Given the description of an element on the screen output the (x, y) to click on. 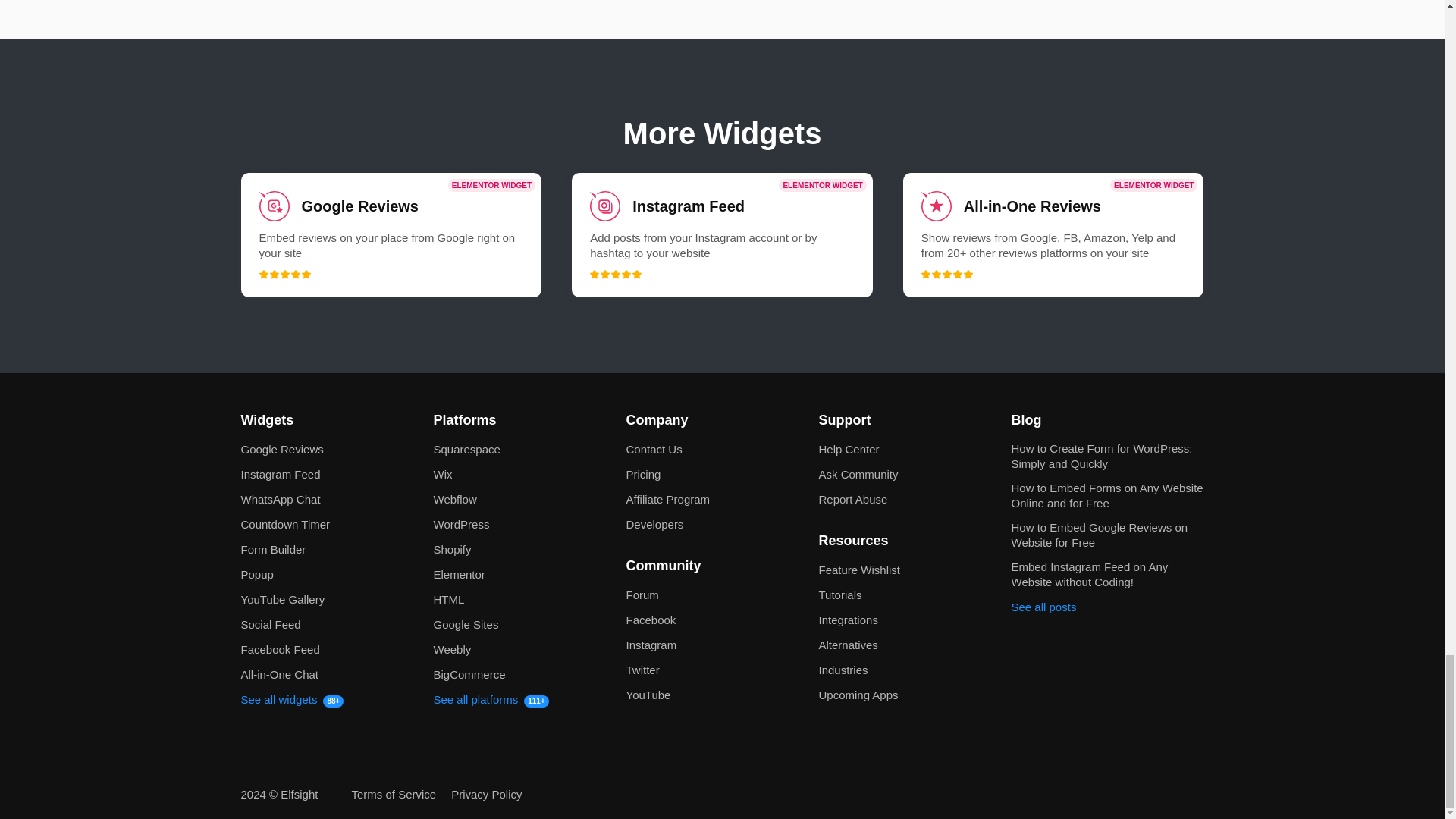
Google Reviews (391, 234)
All-in-One Reviews (1053, 234)
Instagram Feed (722, 234)
